Given the description of an element on the screen output the (x, y) to click on. 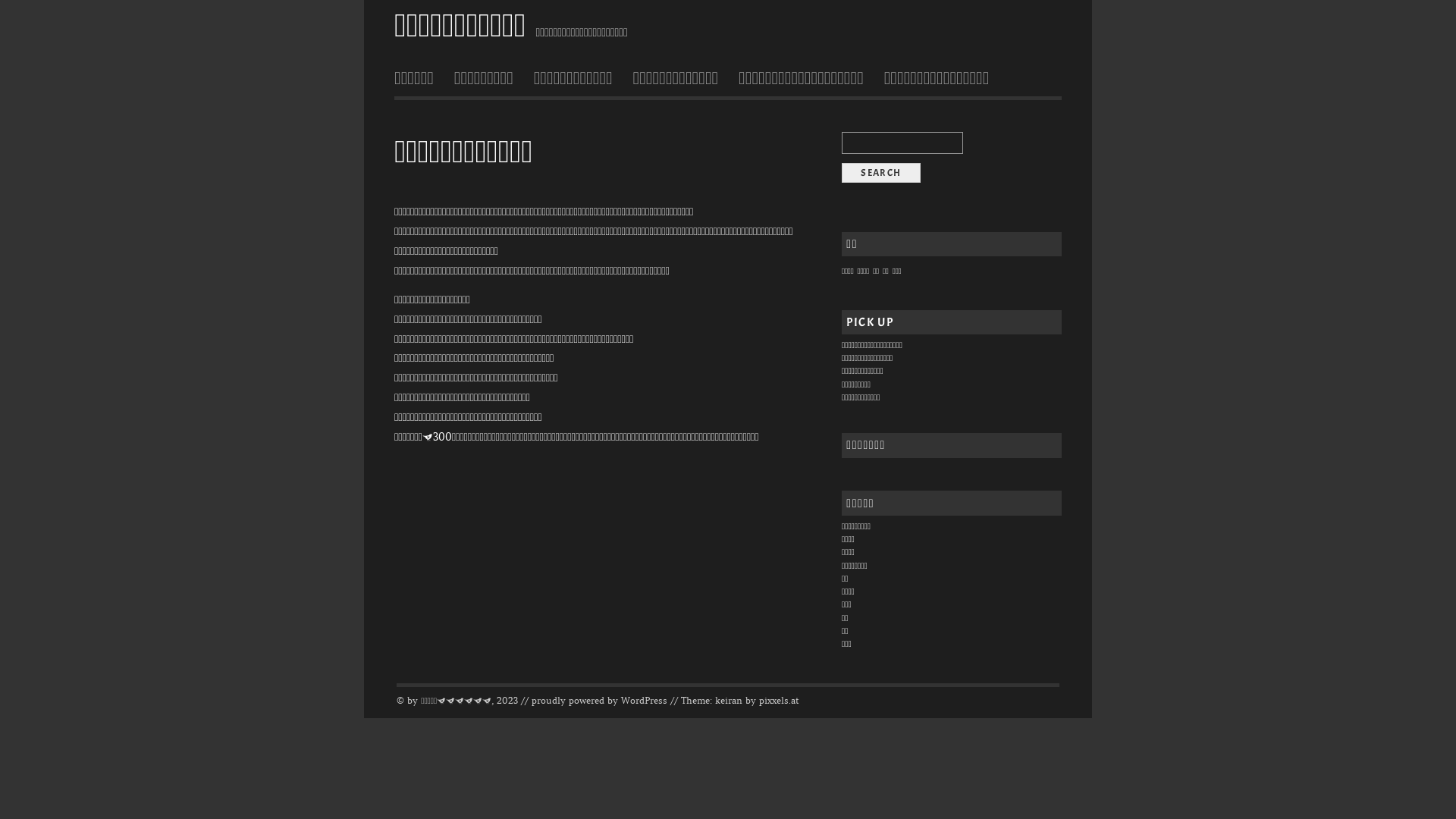
search Element type: text (880, 172)
pixxels.at Element type: text (779, 700)
